Given the description of an element on the screen output the (x, y) to click on. 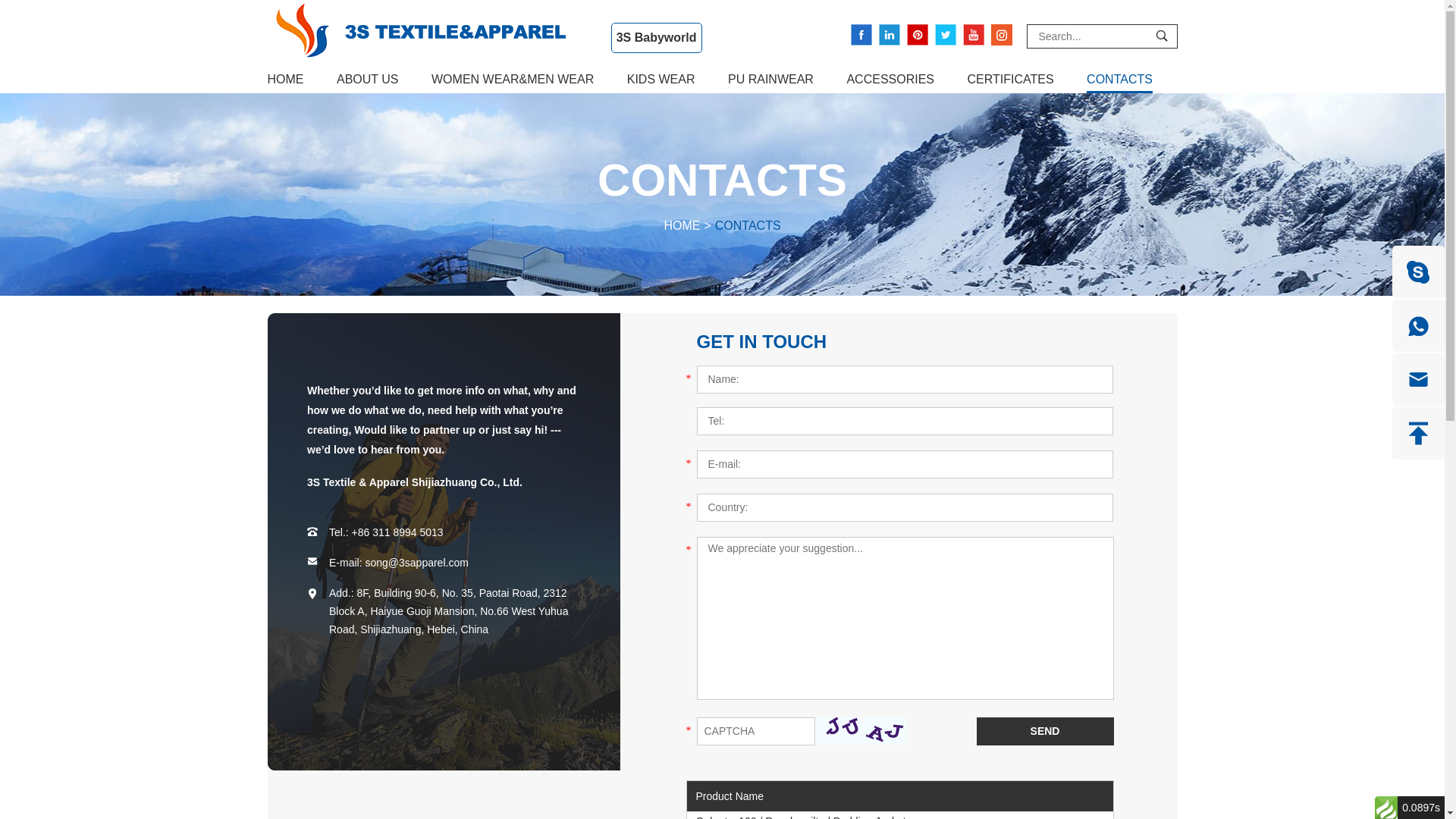
ACCESSORIES Element type: text (890, 80)
PU RAINWEAR Element type: text (770, 80)
3S Babyworld Element type: text (656, 37)
song@3sapparel.com Element type: text (415, 562)
KIDS WEAR Element type: text (661, 80)
3S Textile & Apparel Shijiazhuang Co., Ltd Element type: hover (430, 30)
HOME Element type: text (681, 225)
CONTACTS Element type: text (1119, 80)
CONTACTS Element type: text (748, 225)
SEND Element type: text (1044, 731)
WOMEN WEAR&MEN WEAR Element type: text (512, 80)
ABOUT US Element type: text (367, 80)
HOME Element type: text (284, 80)
CERTIFICATES Element type: text (1010, 80)
